Given the description of an element on the screen output the (x, y) to click on. 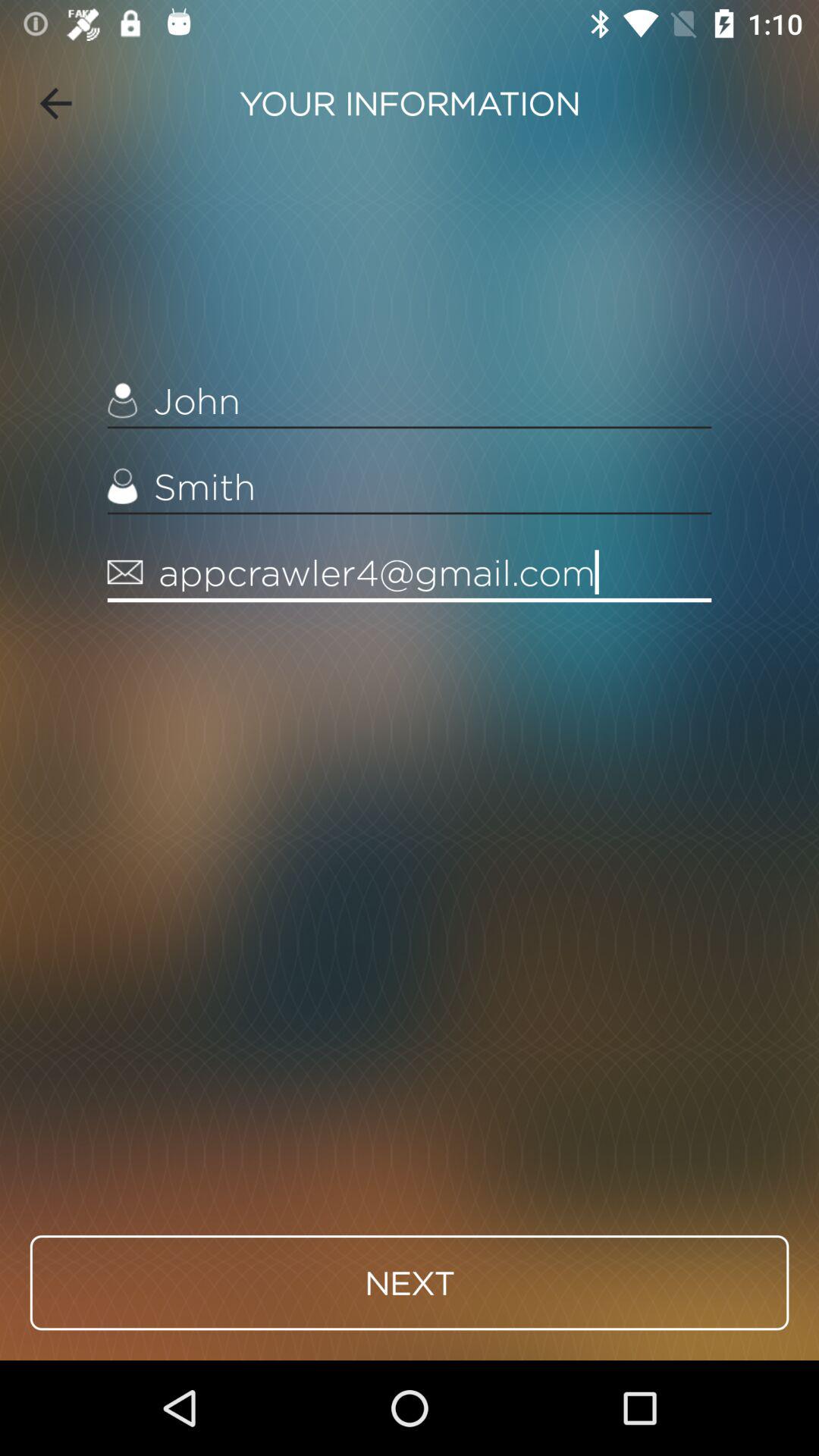
select the icon above smith (409, 401)
